Given the description of an element on the screen output the (x, y) to click on. 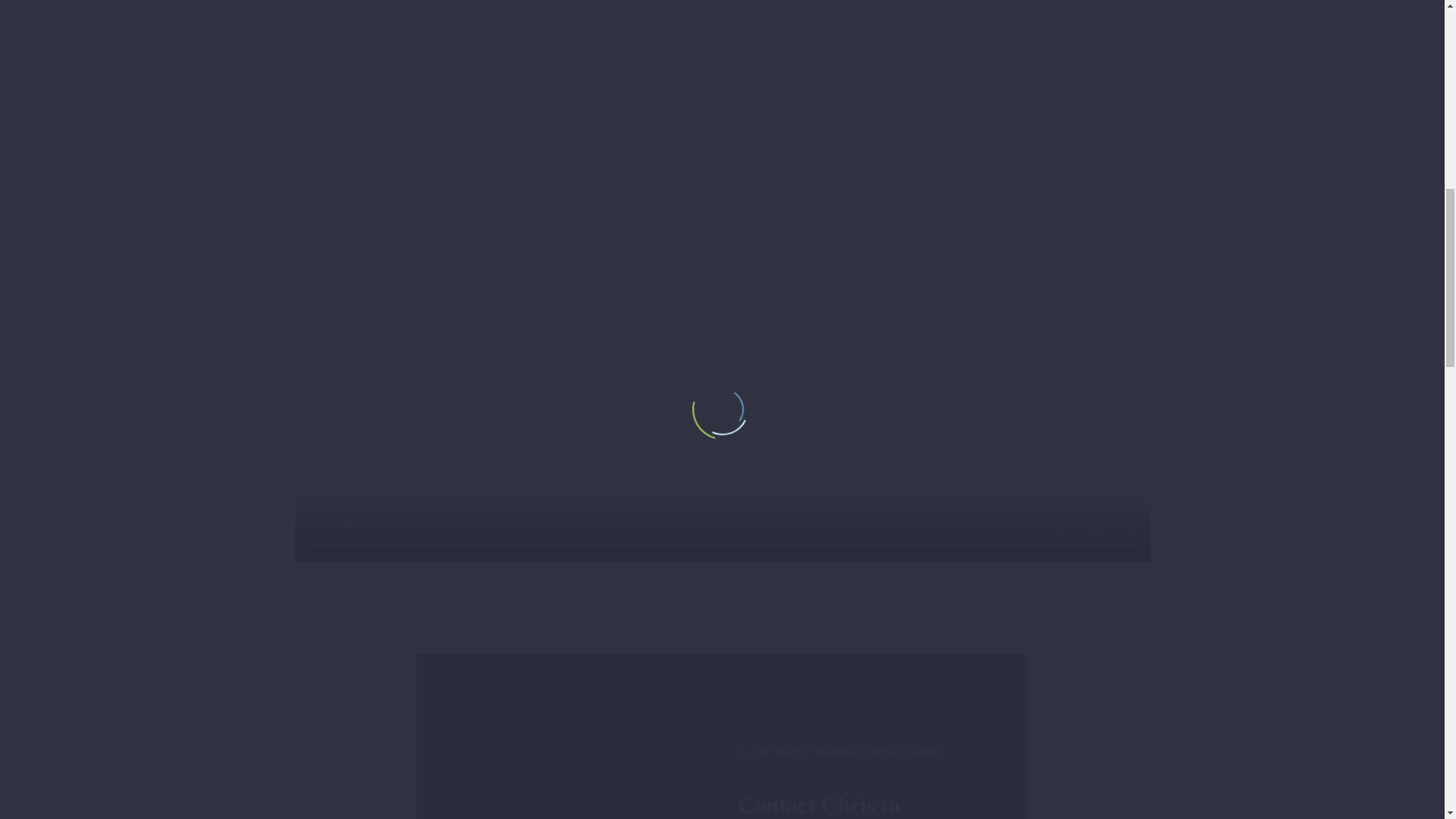
Chris Ohlendorf (568, 765)
